Given the description of an element on the screen output the (x, y) to click on. 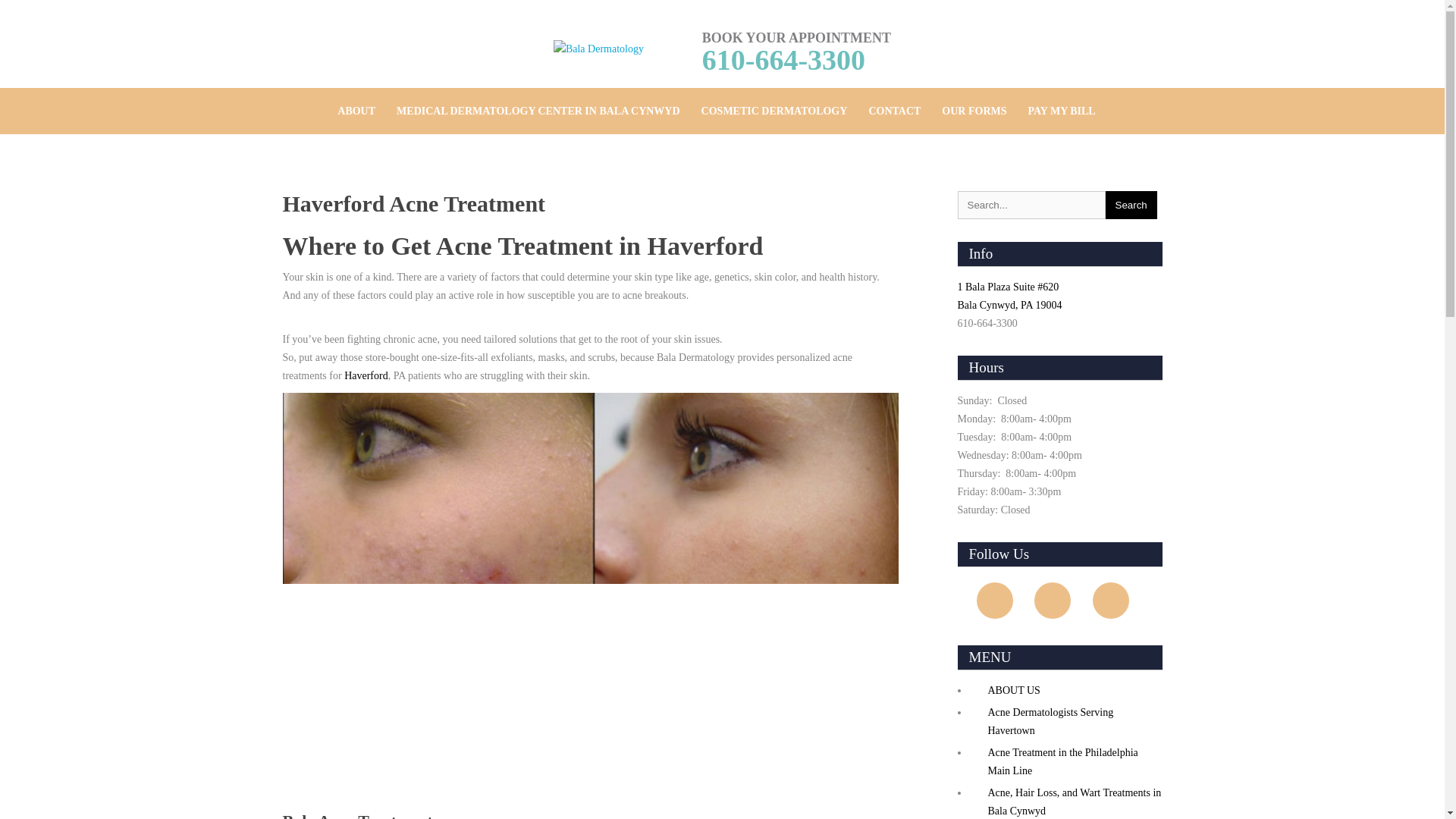
ABOUT (355, 110)
COSMETIC DERMATOLOGY (774, 110)
Haverford (365, 375)
CONTACT (894, 110)
MEDICAL DERMATOLOGY CENTER IN BALA CYNWYD (537, 110)
Search (1131, 204)
Facebook (994, 600)
Search (1131, 204)
PAY MY BILL (1061, 110)
Search (1131, 204)
